Given the description of an element on the screen output the (x, y) to click on. 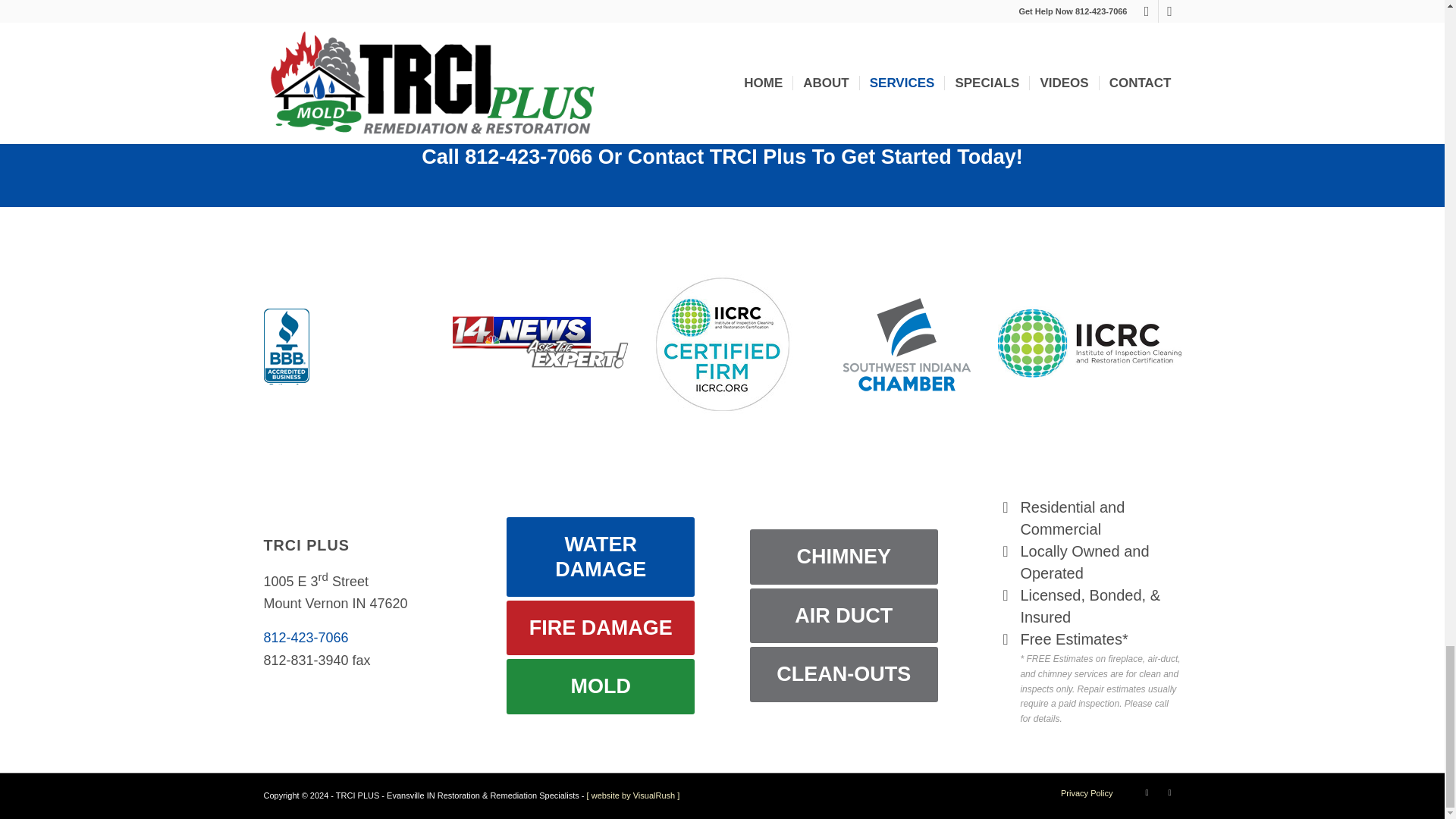
CHIMNEY (843, 556)
812-423-7066 (306, 637)
Privacy Policy (1086, 792)
WATER DAMAGE (600, 556)
IICRC-Logo (1088, 342)
Mail (1169, 792)
AIR DUCT (843, 615)
FIRE DAMAGE (600, 627)
MOLD (600, 686)
CLEAN-OUTS (843, 674)
AskExpertLogo-400x (538, 342)
Facebook (1146, 792)
